Given the description of an element on the screen output the (x, y) to click on. 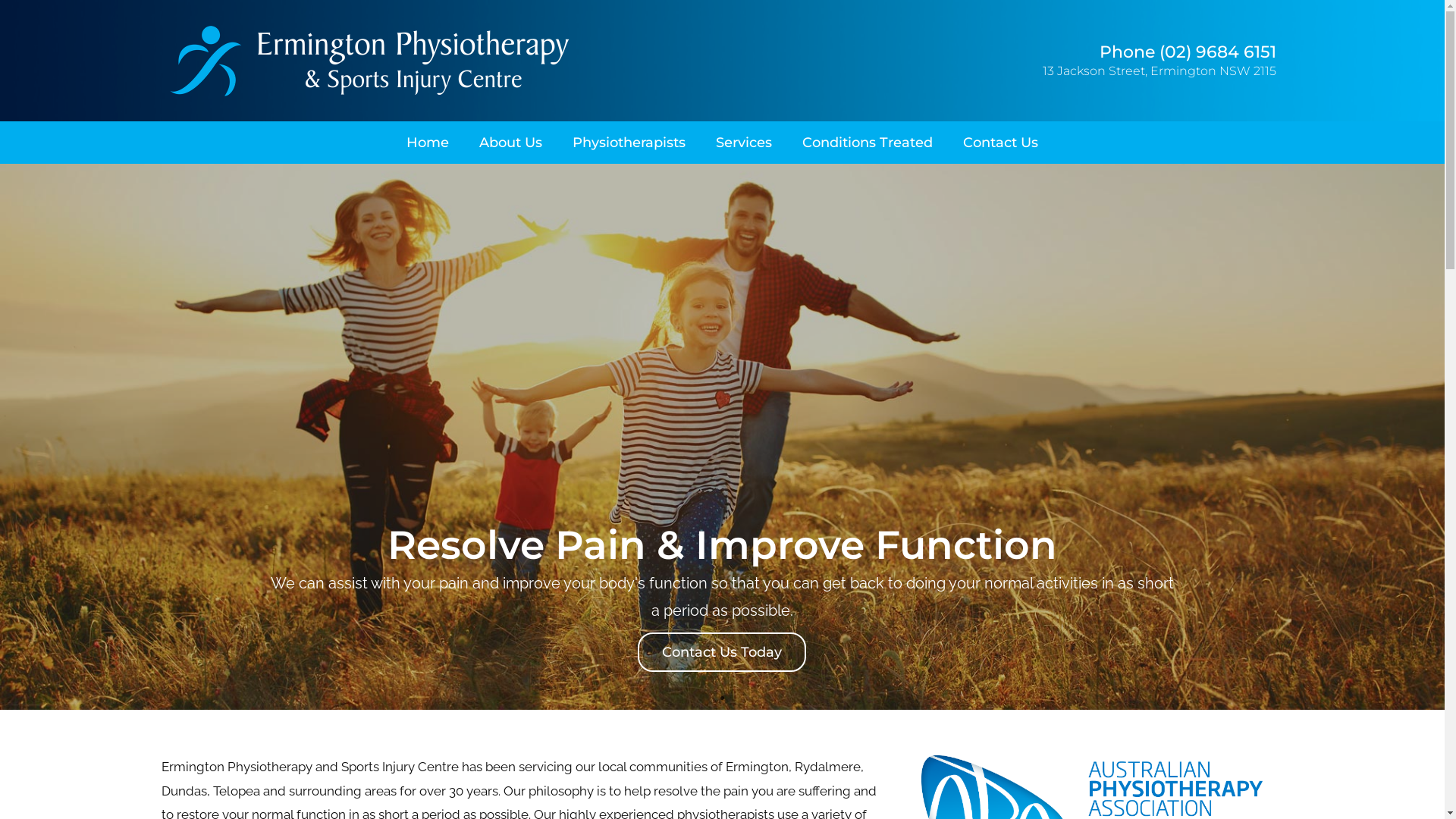
Conditions Treated Element type: text (867, 142)
Home Element type: text (427, 142)
1 Element type: text (721, 698)
About Us Element type: text (510, 142)
Physiotherapists Element type: text (628, 142)
Contact Us Today Element type: text (721, 651)
Phone (02) 9684 6151 Element type: text (1187, 51)
Services Element type: text (743, 142)
Contact Us Element type: text (1000, 142)
